Given the description of an element on the screen output the (x, y) to click on. 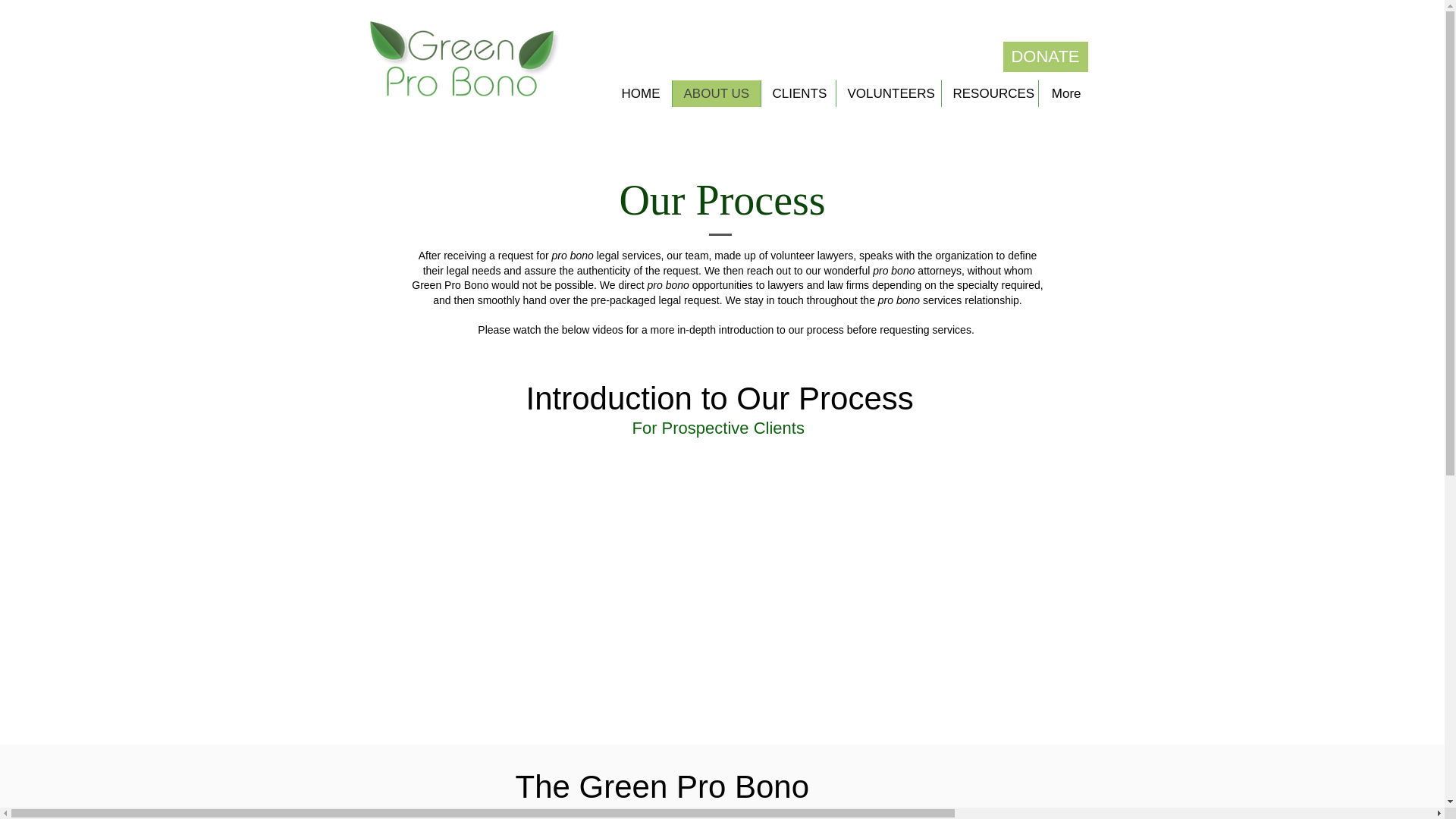
VOLUNTEERS (887, 93)
DONATE (1045, 56)
ABOUT US (715, 93)
HOME (639, 93)
